Given the description of an element on the screen output the (x, y) to click on. 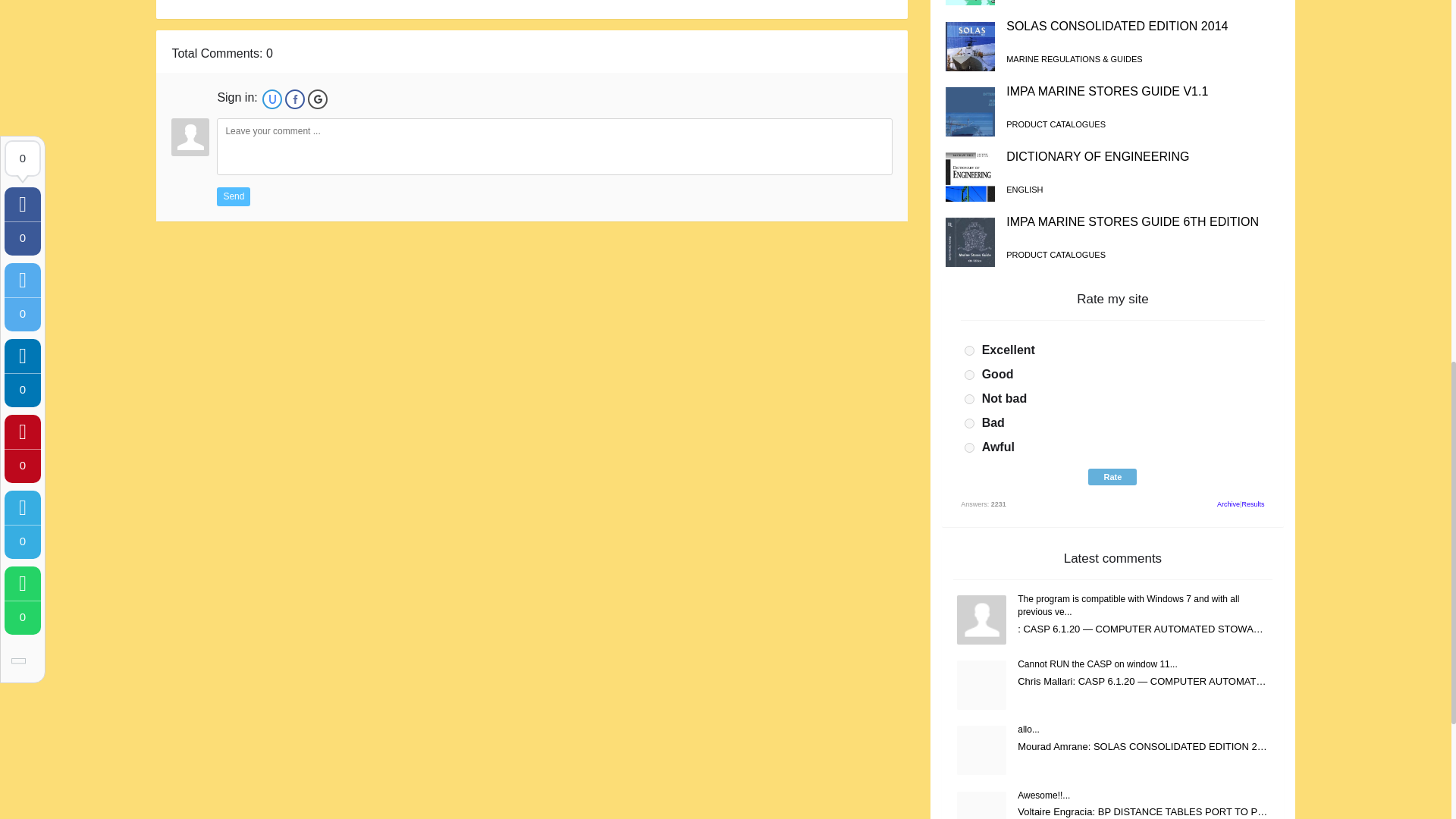
3 (968, 398)
Log in with Facebook (294, 98)
4 (968, 423)
1 (968, 350)
PRODUCT CATALOGUES (1055, 254)
5 (968, 447)
PRODUCT CATALOGUES (1055, 123)
ENGLISH (1024, 189)
IMPA MARINE STORES GUIDE V1.1 (1107, 91)
DICTIONARY OF ENGINEERING (1097, 155)
Log in with uID (272, 98)
2 (968, 375)
IMPA MARINE STORES GUIDE 6TH EDITION (1132, 221)
Rate (1112, 476)
Log in with Google (317, 98)
